Given the description of an element on the screen output the (x, y) to click on. 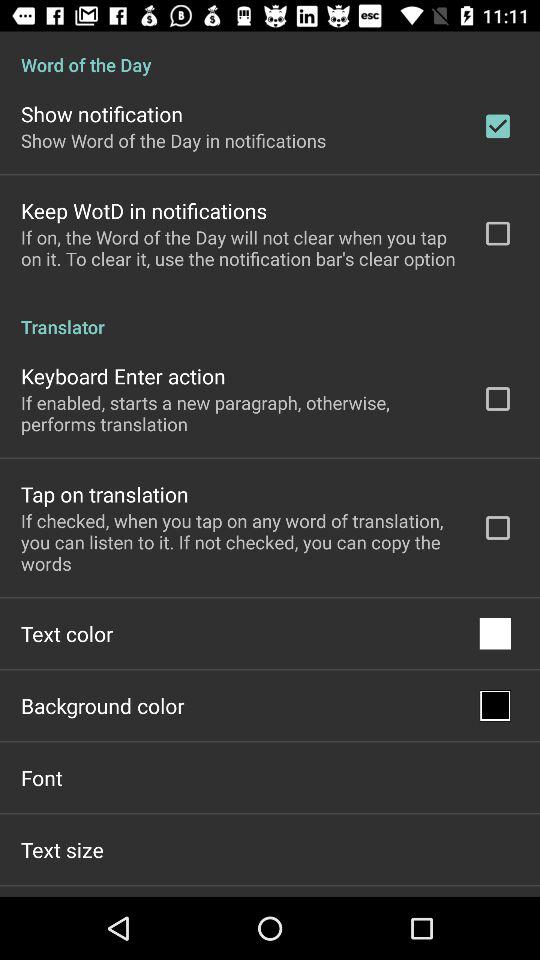
turn off show notification (101, 113)
